Given the description of an element on the screen output the (x, y) to click on. 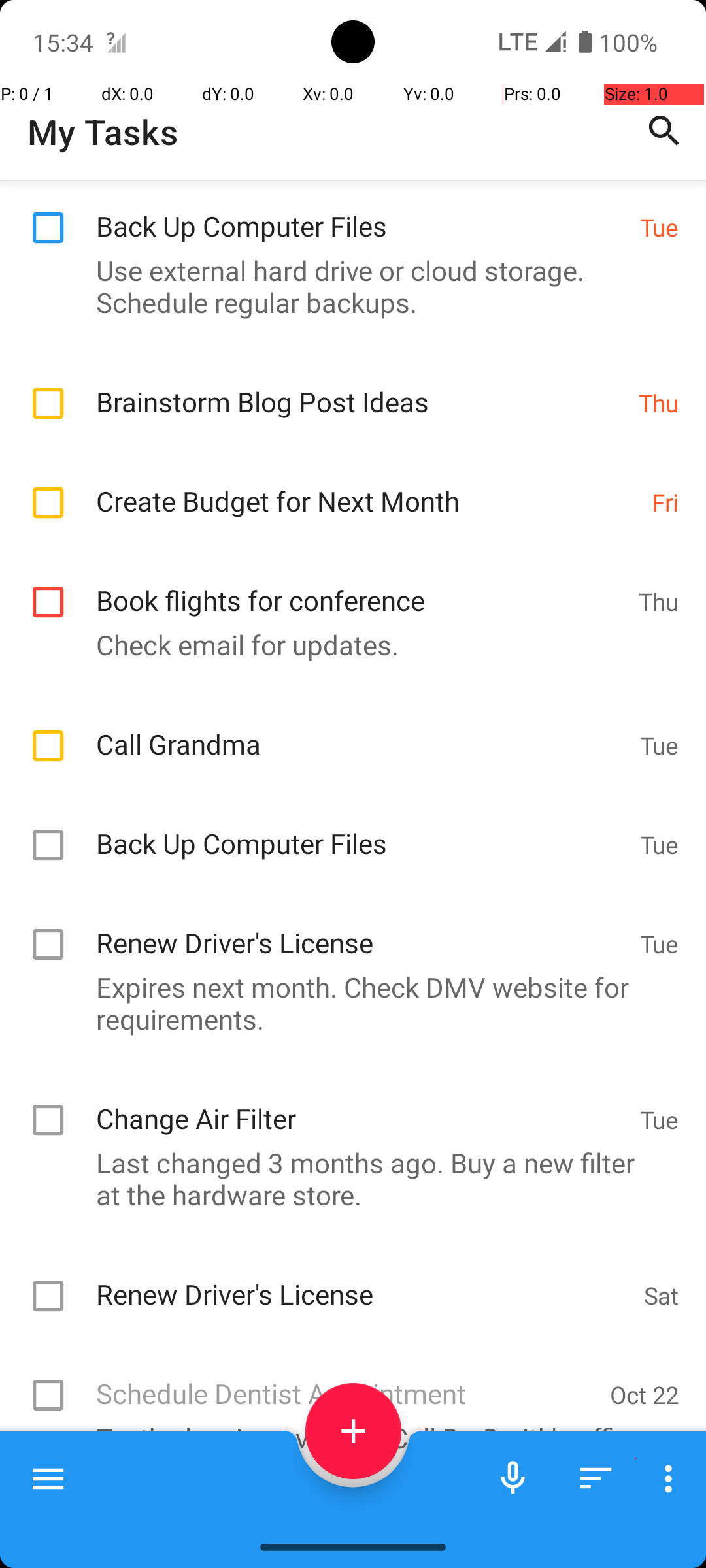
Use external hard drive or cloud storage. Schedule regular backups. Element type: android.widget.TextView (346, 285)
Book flights for conference Element type: android.widget.TextView (360, 586)
Check email for updates. Element type: android.widget.TextView (346, 644)
